Given the description of an element on the screen output the (x, y) to click on. 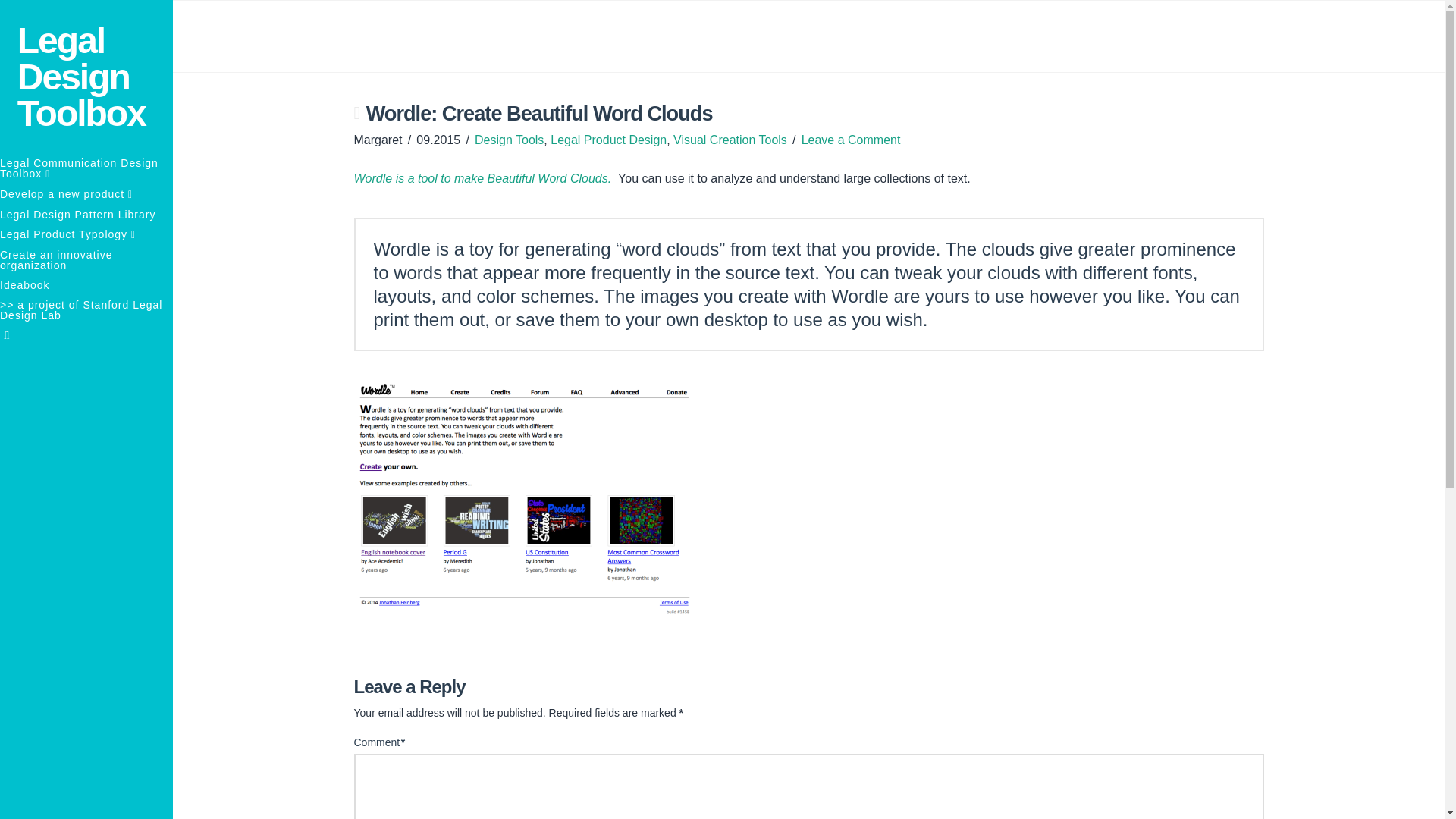
Develop a new product (86, 194)
Ideabook (86, 284)
Legal Product Typology (86, 234)
Legal Design Toolbox (95, 76)
Create an innovative organization (86, 259)
Legal Communication Design Toolbox (86, 168)
Legal Design Pattern Library (86, 214)
a project of the Legal Design Lab (95, 76)
